Given the description of an element on the screen output the (x, y) to click on. 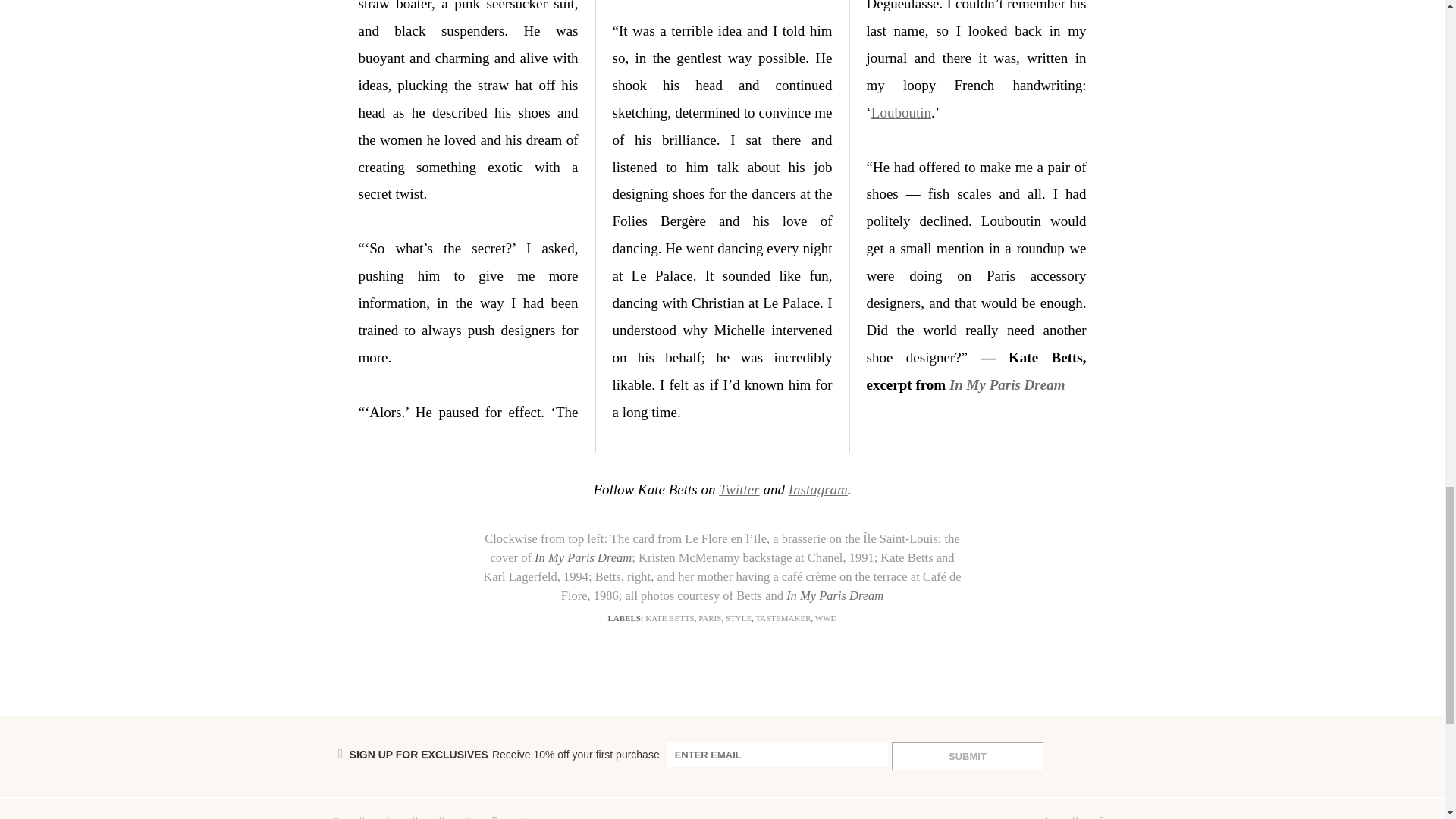
Instagram (818, 489)
WWD (826, 617)
STYLE (738, 617)
In My Paris Dream (834, 595)
In My Paris Dream (1007, 384)
Louboutin (900, 112)
In My Paris Dream (582, 557)
Twitter (739, 489)
TASTEMAKER (782, 617)
SUBMIT (967, 756)
PARIS (709, 617)
KATE BETTS (669, 617)
